Given the description of an element on the screen output the (x, y) to click on. 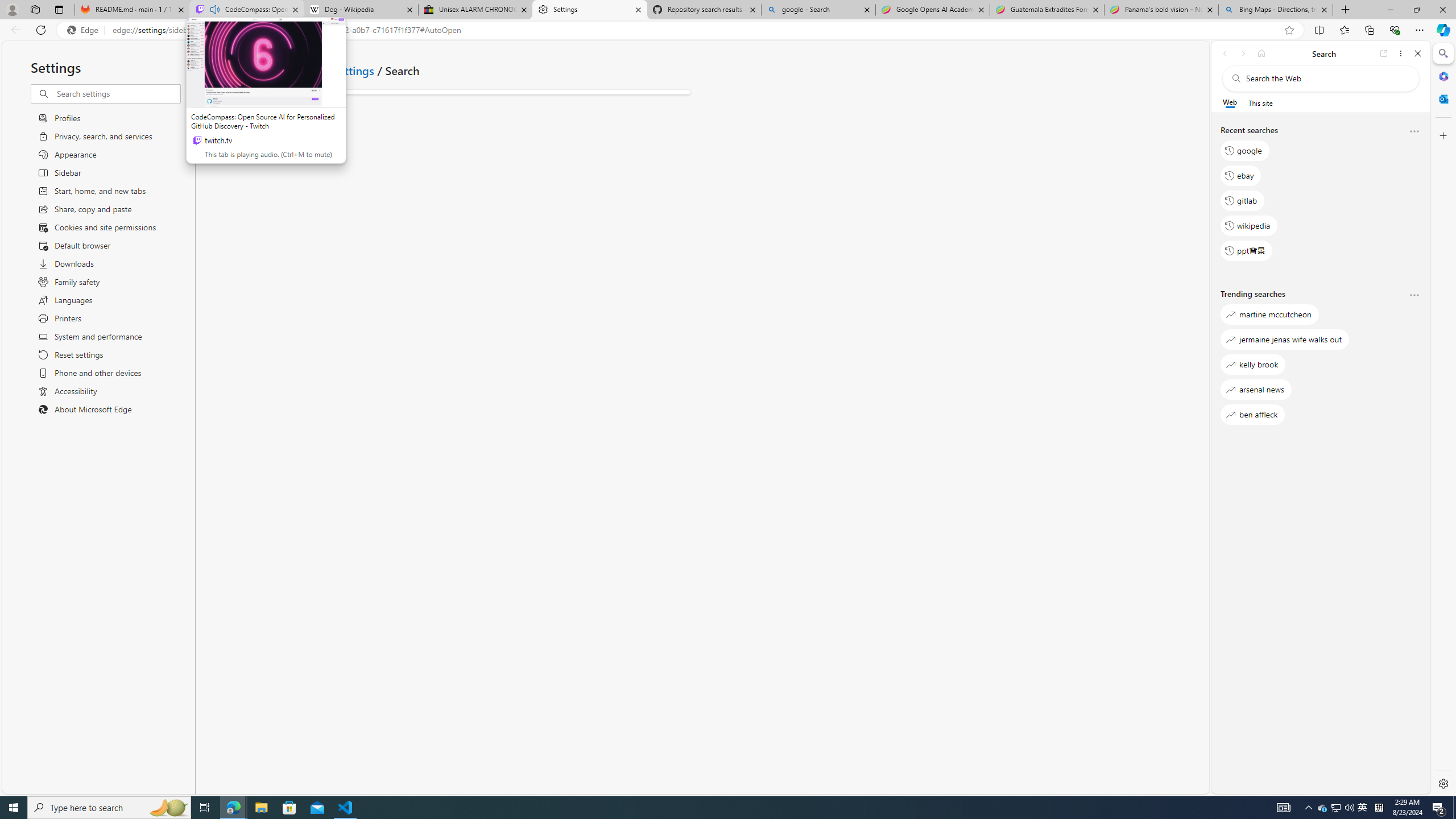
This site scope (1259, 102)
Mute tab (215, 8)
google (1244, 150)
jermaine jenas wife walks out (1284, 339)
Class: c01177 (210, 70)
Forward (1242, 53)
wikipedia (1249, 225)
App and notification settings (299, 69)
arsenal news (1255, 389)
